Given the description of an element on the screen output the (x, y) to click on. 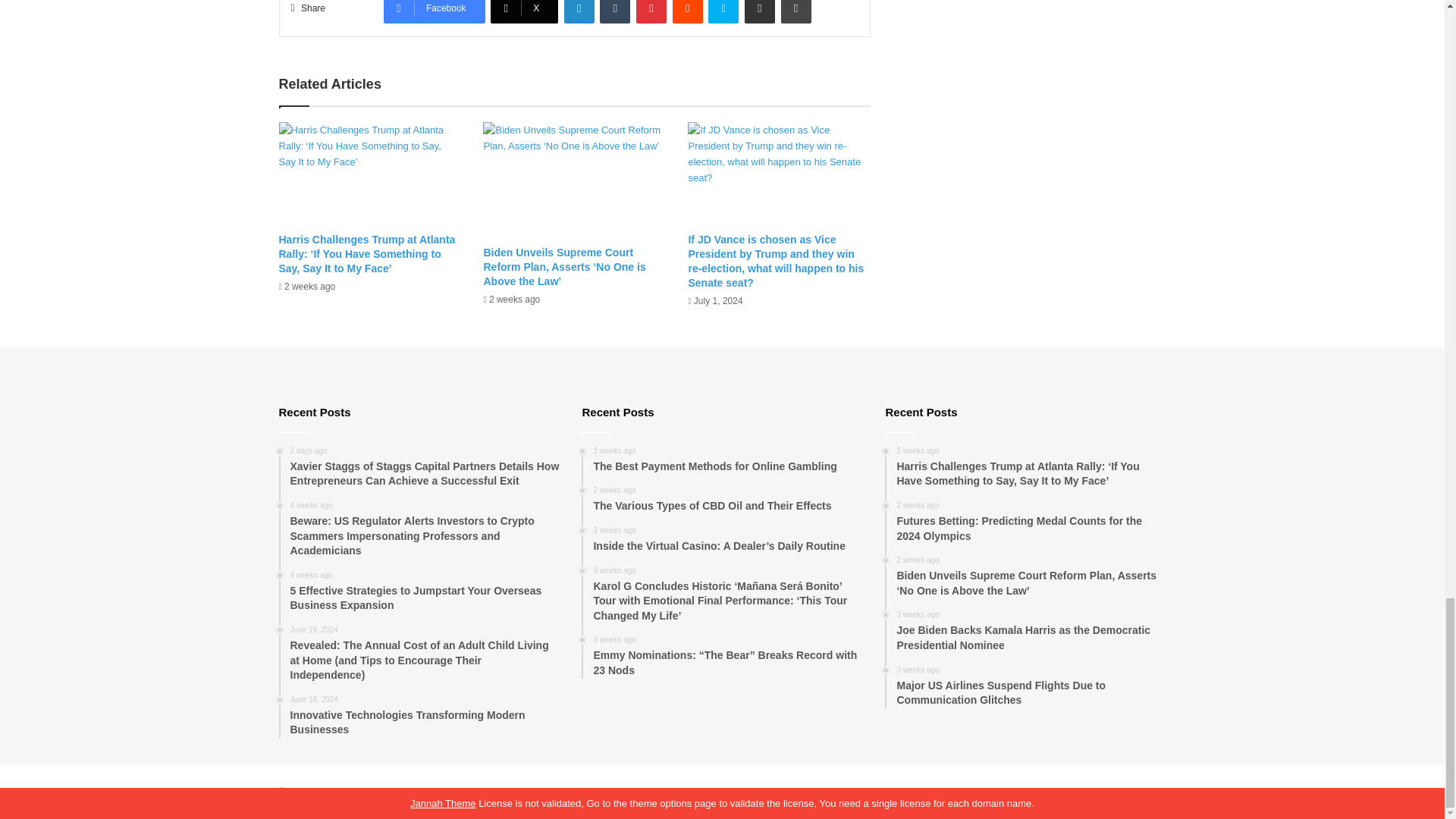
Tumblr (614, 11)
X (523, 11)
Pinterest (651, 11)
LinkedIn (579, 11)
Reddit (687, 11)
Tumblr (614, 11)
Reddit (687, 11)
Pinterest (651, 11)
Facebook (434, 11)
